Given the description of an element on the screen output the (x, y) to click on. 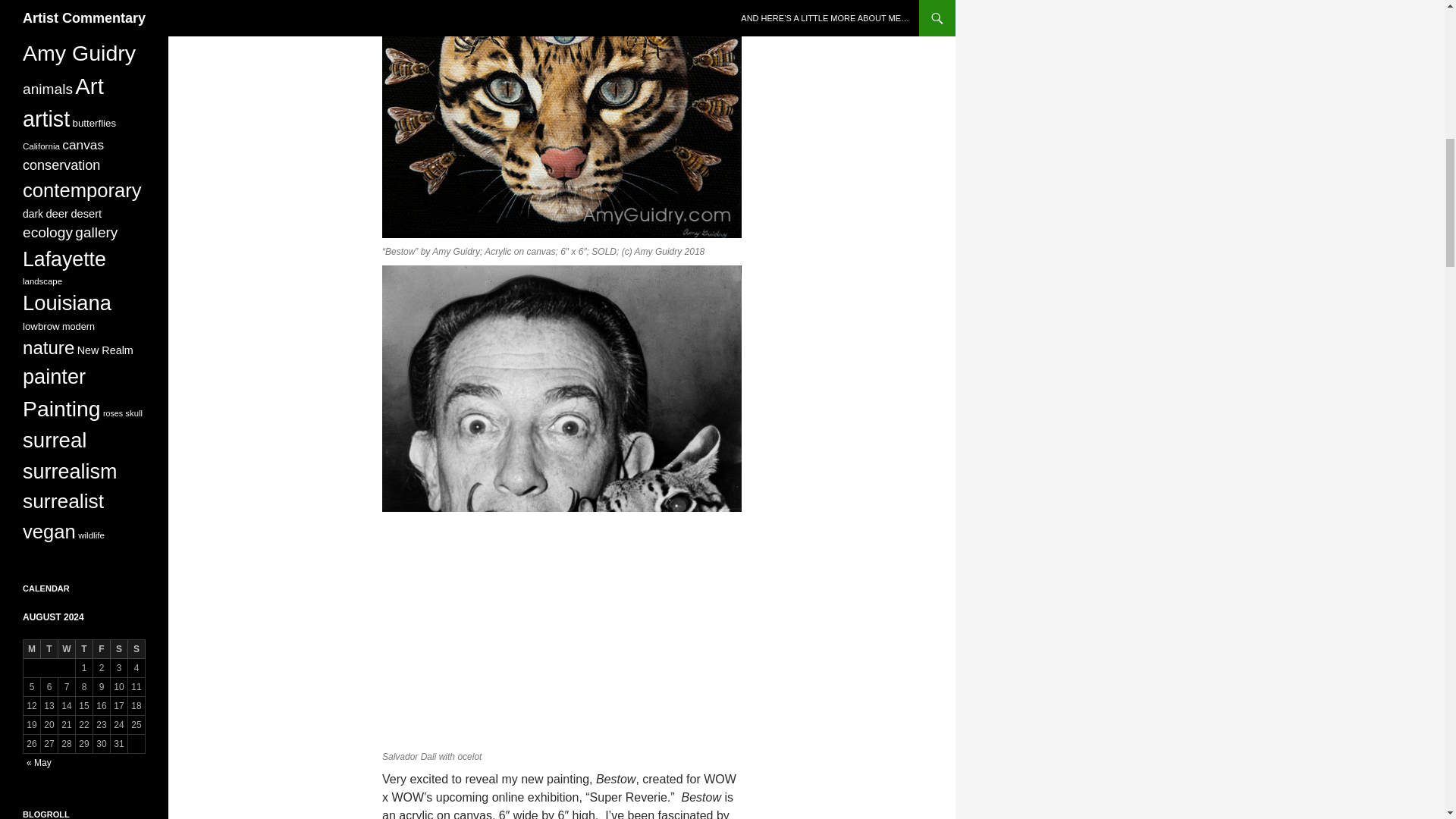
Sunday (136, 649)
Monday (31, 649)
Thursday (84, 649)
Friday (101, 649)
Tuesday (49, 649)
Saturday (119, 649)
Wednesday (66, 649)
